Given the description of an element on the screen output the (x, y) to click on. 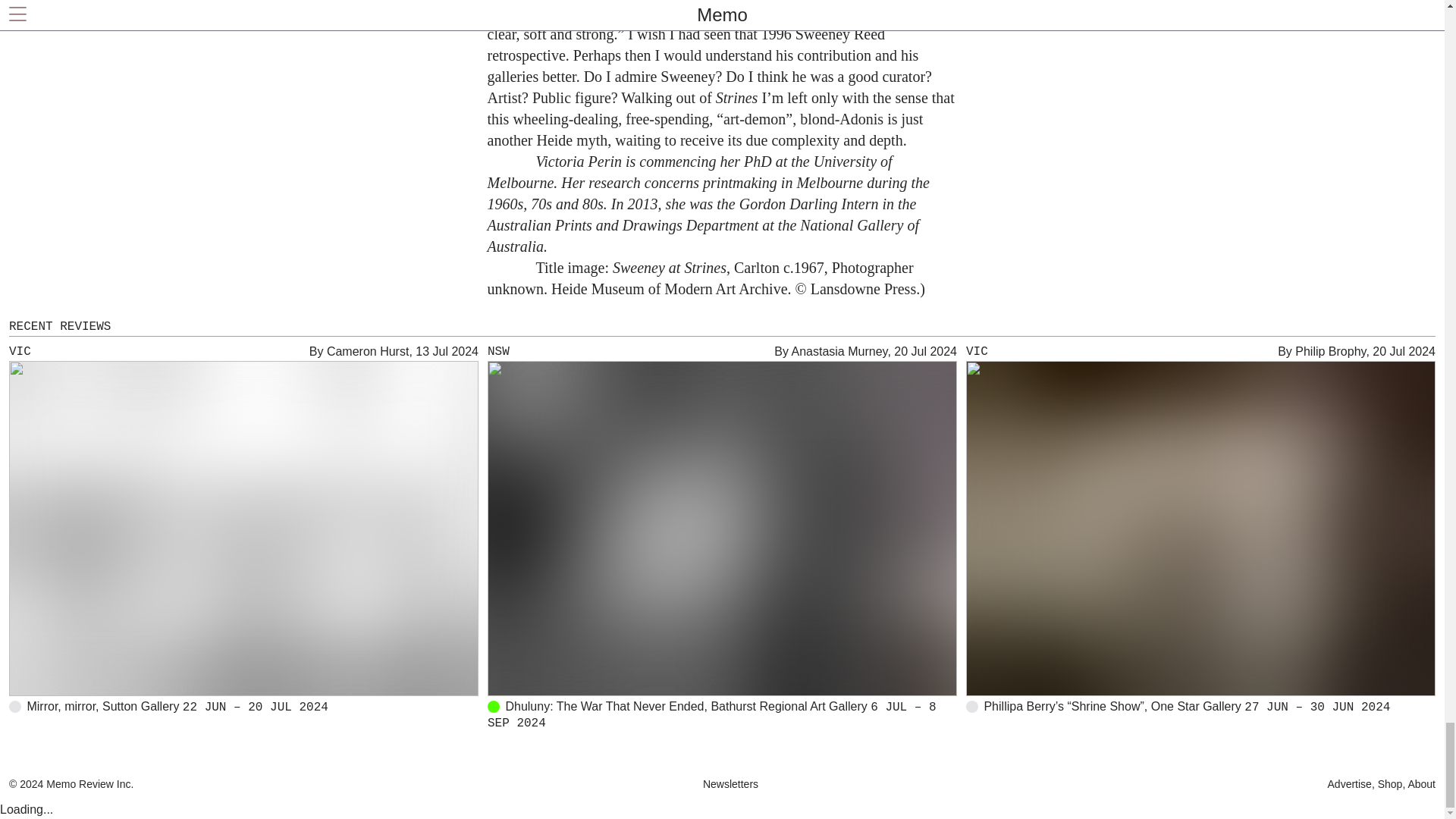
 About (1420, 783)
Advertise (1350, 783)
Newsletters (730, 783)
 Shop (1389, 783)
